Given the description of an element on the screen output the (x, y) to click on. 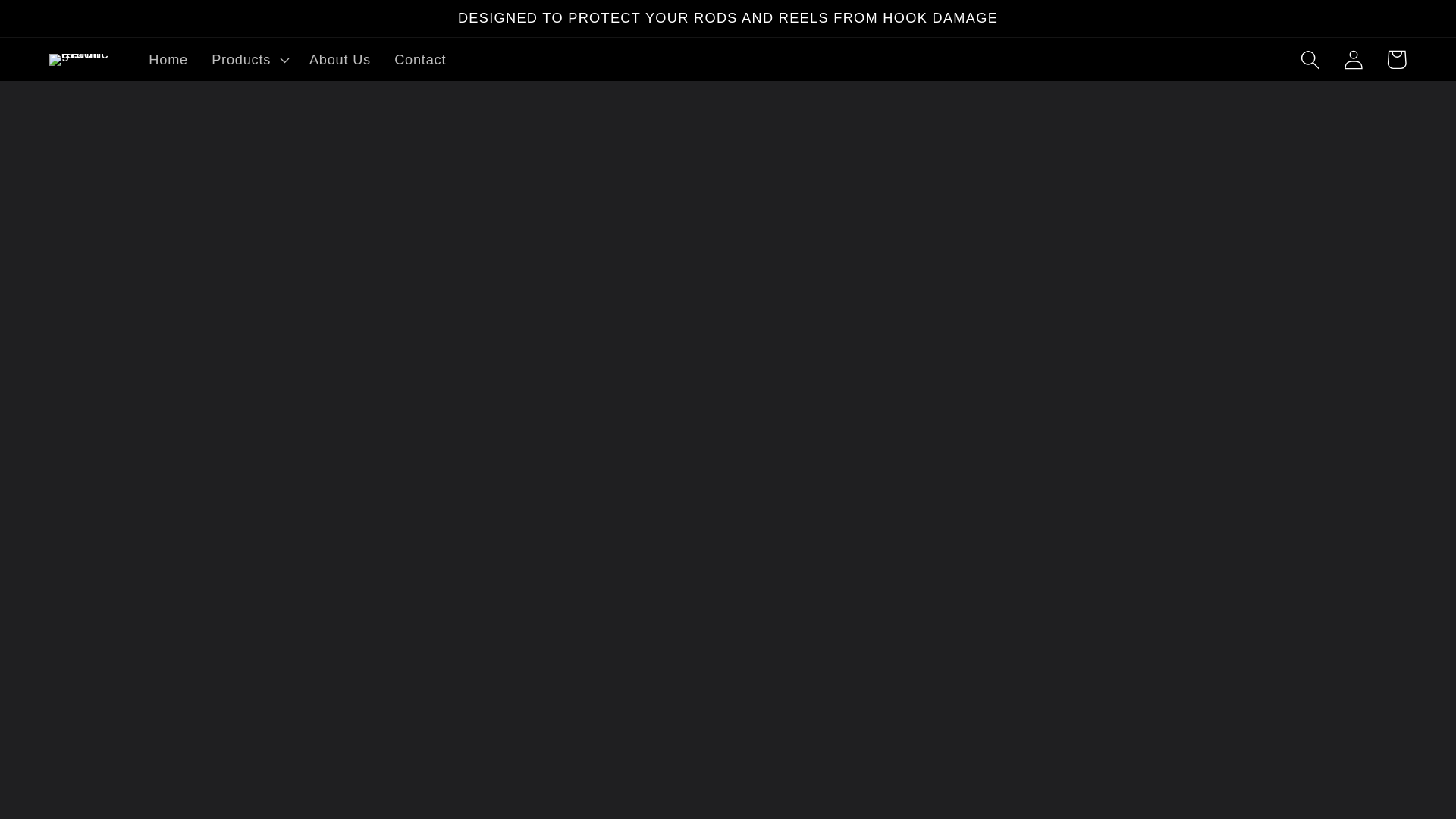
Skip to content (58, 22)
Log in (1353, 59)
Cart (1396, 59)
Home (168, 59)
About Us (339, 59)
Contact (420, 59)
